Given the description of an element on the screen output the (x, y) to click on. 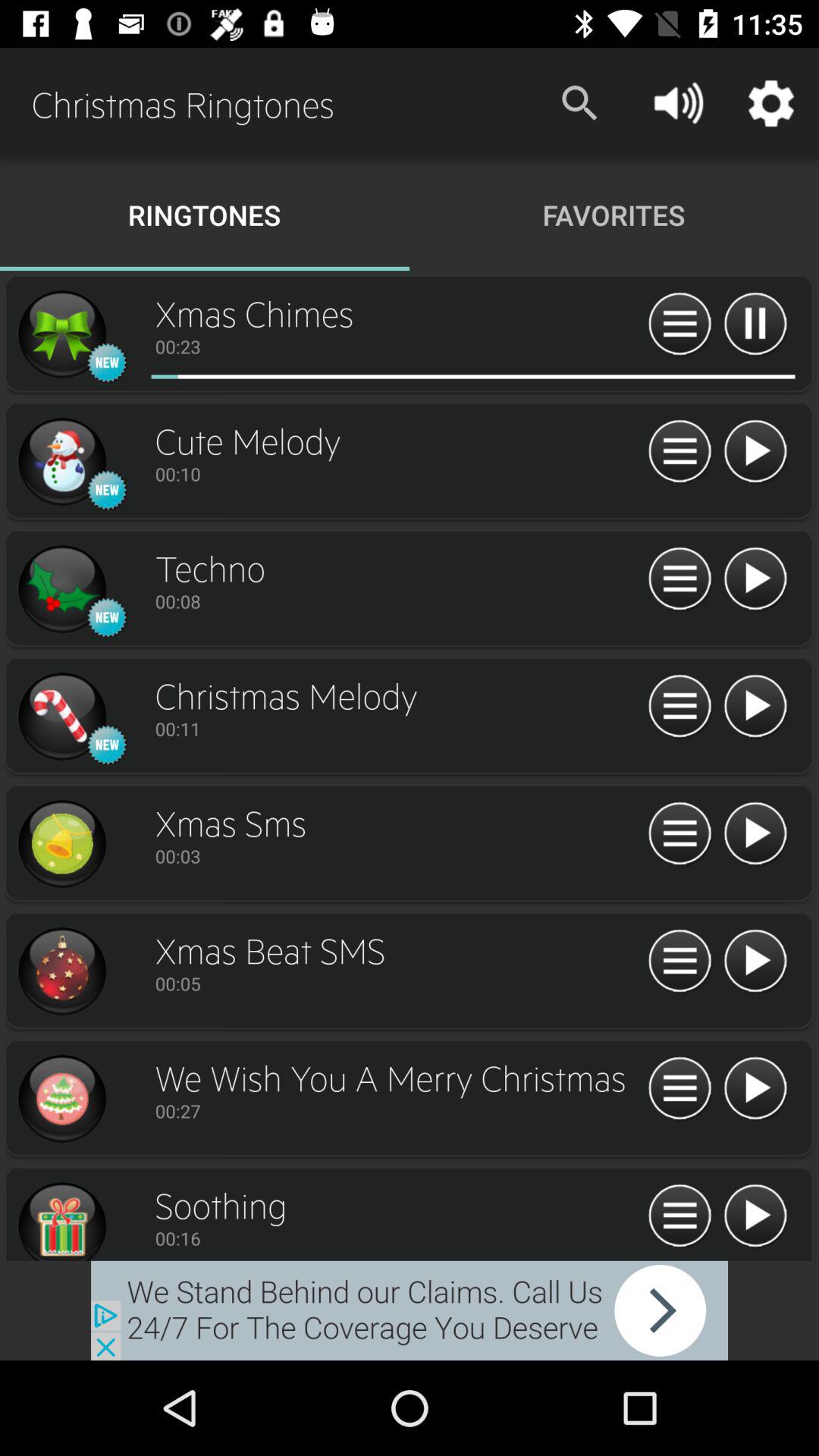
setting button (679, 451)
